Given the description of an element on the screen output the (x, y) to click on. 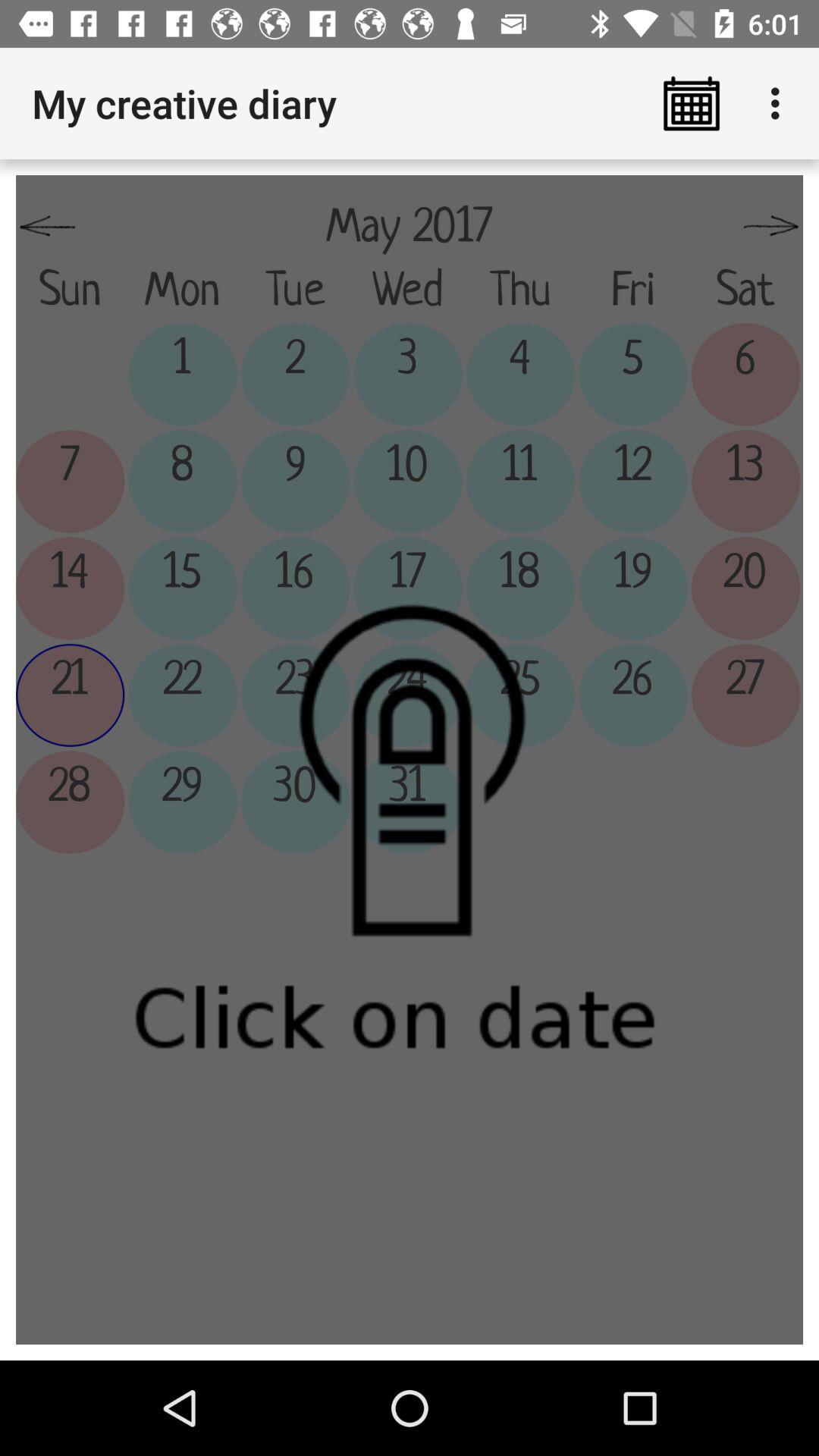
tap icon to the right of the may 2017 icon (771, 226)
